Given the description of an element on the screen output the (x, y) to click on. 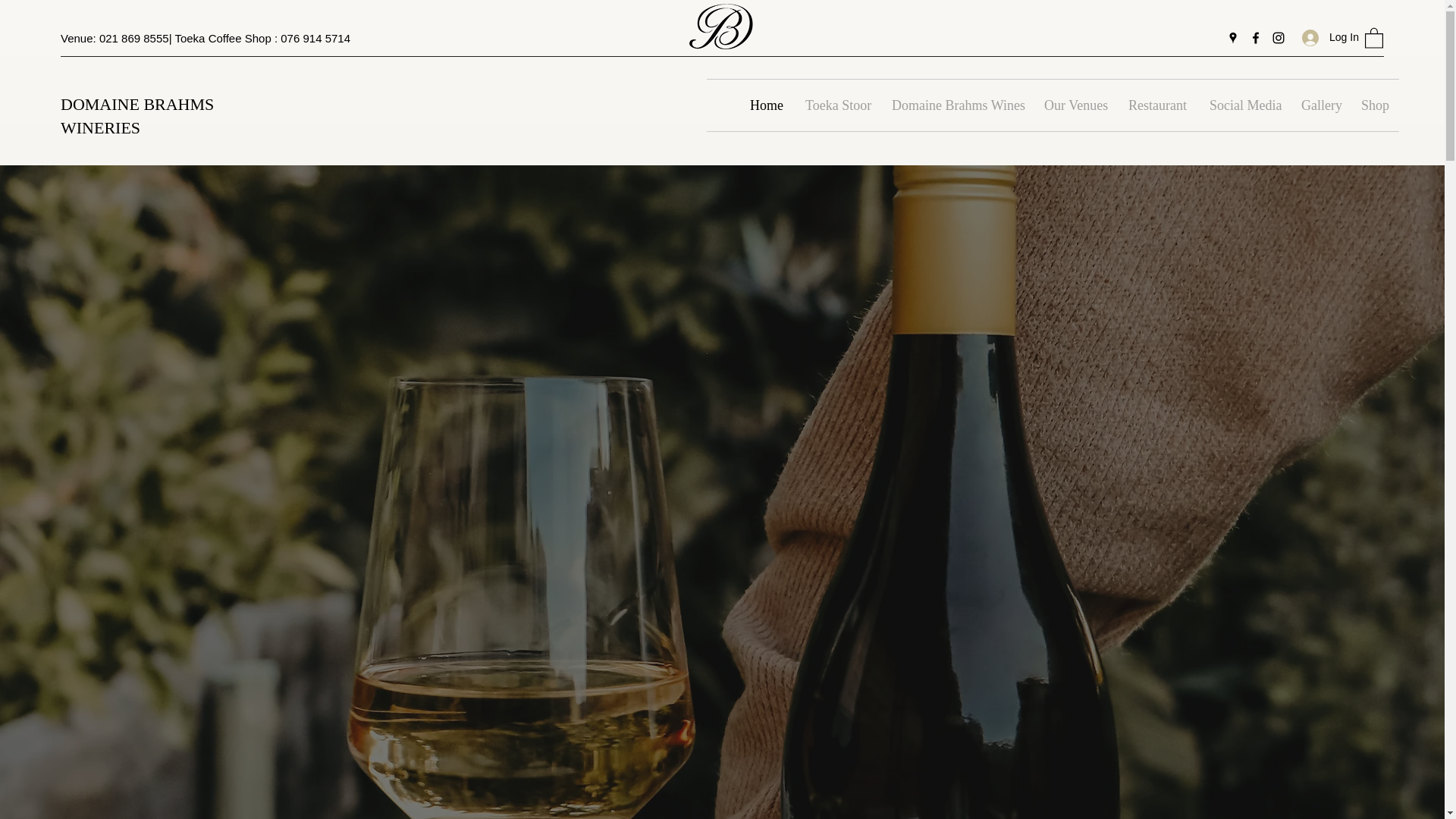
Shop (1374, 105)
Domaine Brahms Wines (956, 105)
Restaurant (1157, 105)
Log In (1325, 37)
Home (765, 105)
Toeka Stoor (836, 105)
Our Venues (1074, 105)
DOMAINE BRAHMS WINERIES (137, 116)
Gallery (1319, 105)
Social Media (1244, 105)
